Given the description of an element on the screen output the (x, y) to click on. 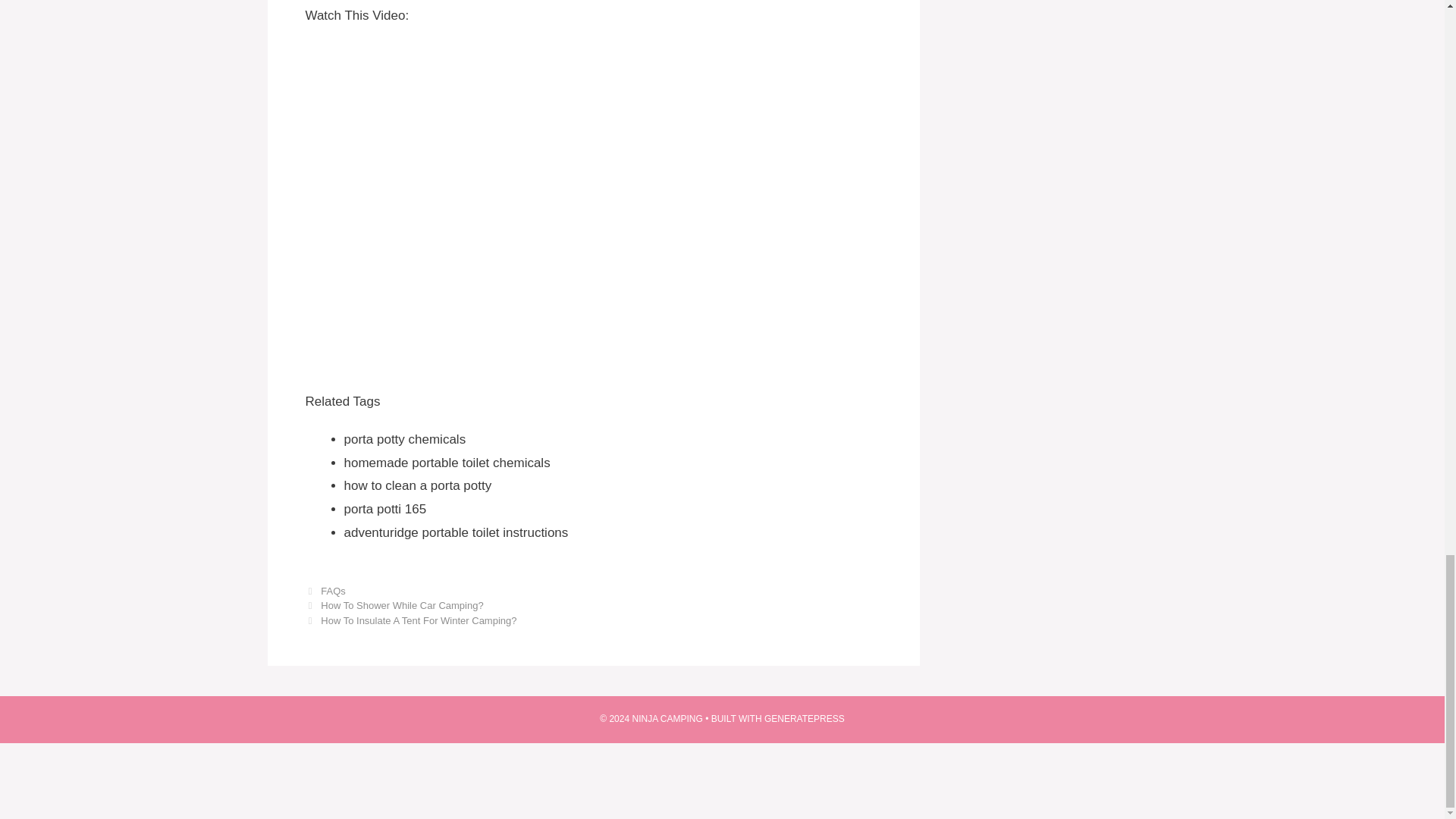
FAQs (333, 591)
How To Shower While Car Camping? (401, 604)
How To Insulate A Tent For Winter Camping? (418, 620)
GENERATEPRESS (804, 718)
